Given the description of an element on the screen output the (x, y) to click on. 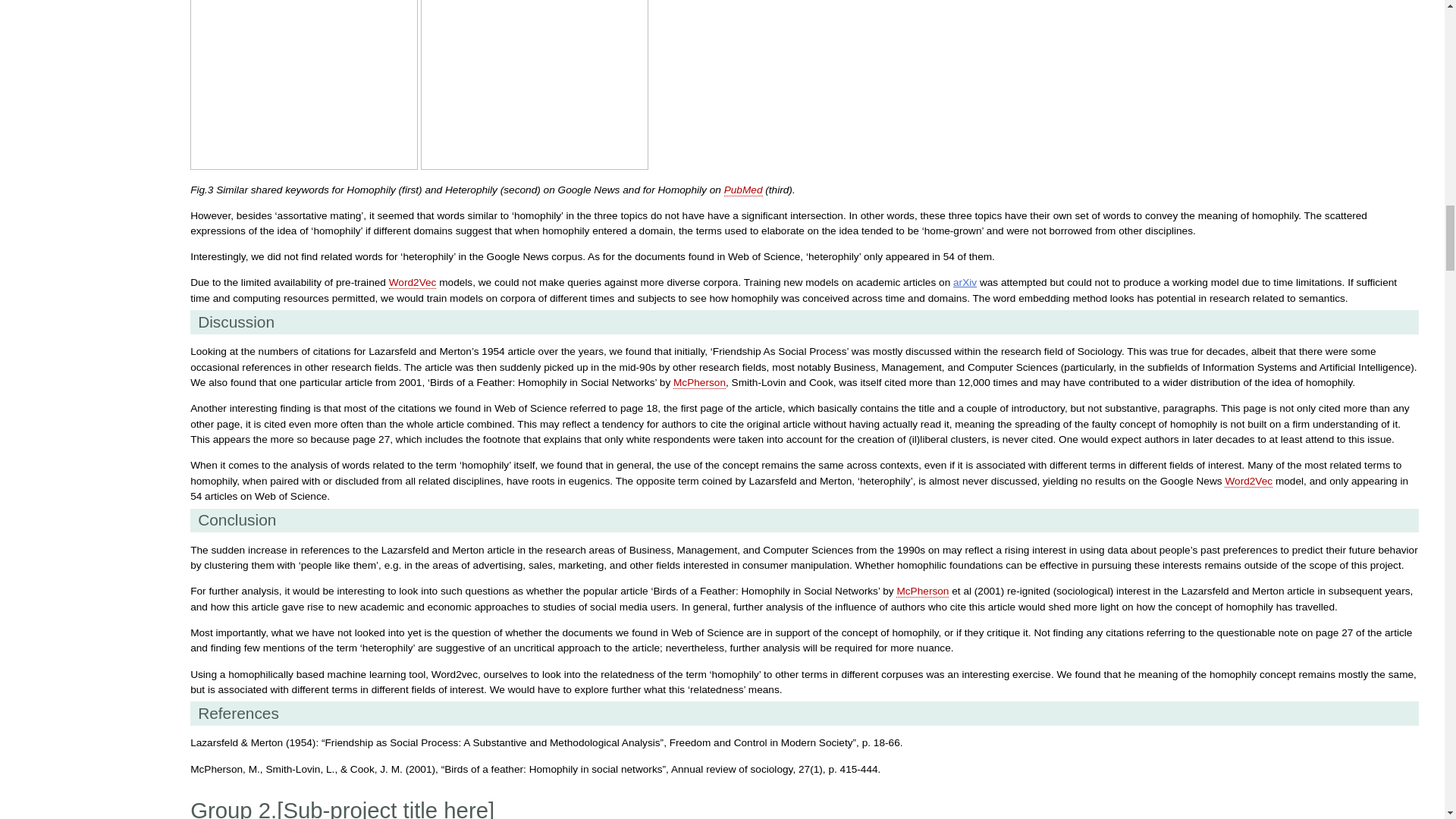
Create this topic (922, 591)
Create this topic (412, 282)
Create this topic (742, 190)
Create this topic (1248, 481)
Create this topic (698, 382)
